Given the description of an element on the screen output the (x, y) to click on. 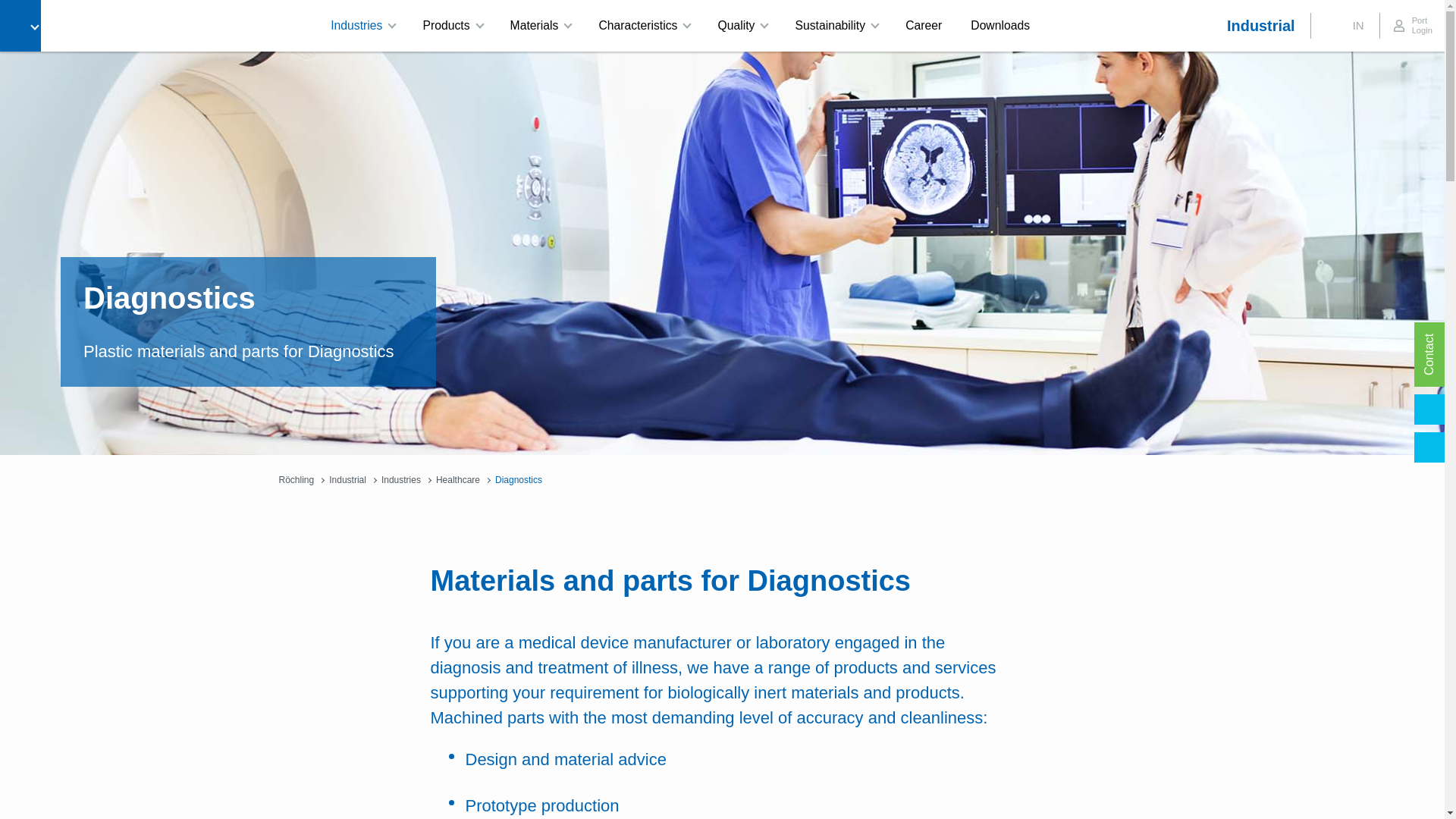
Industries (361, 25)
Products (451, 25)
Industries (361, 25)
